Given the description of an element on the screen output the (x, y) to click on. 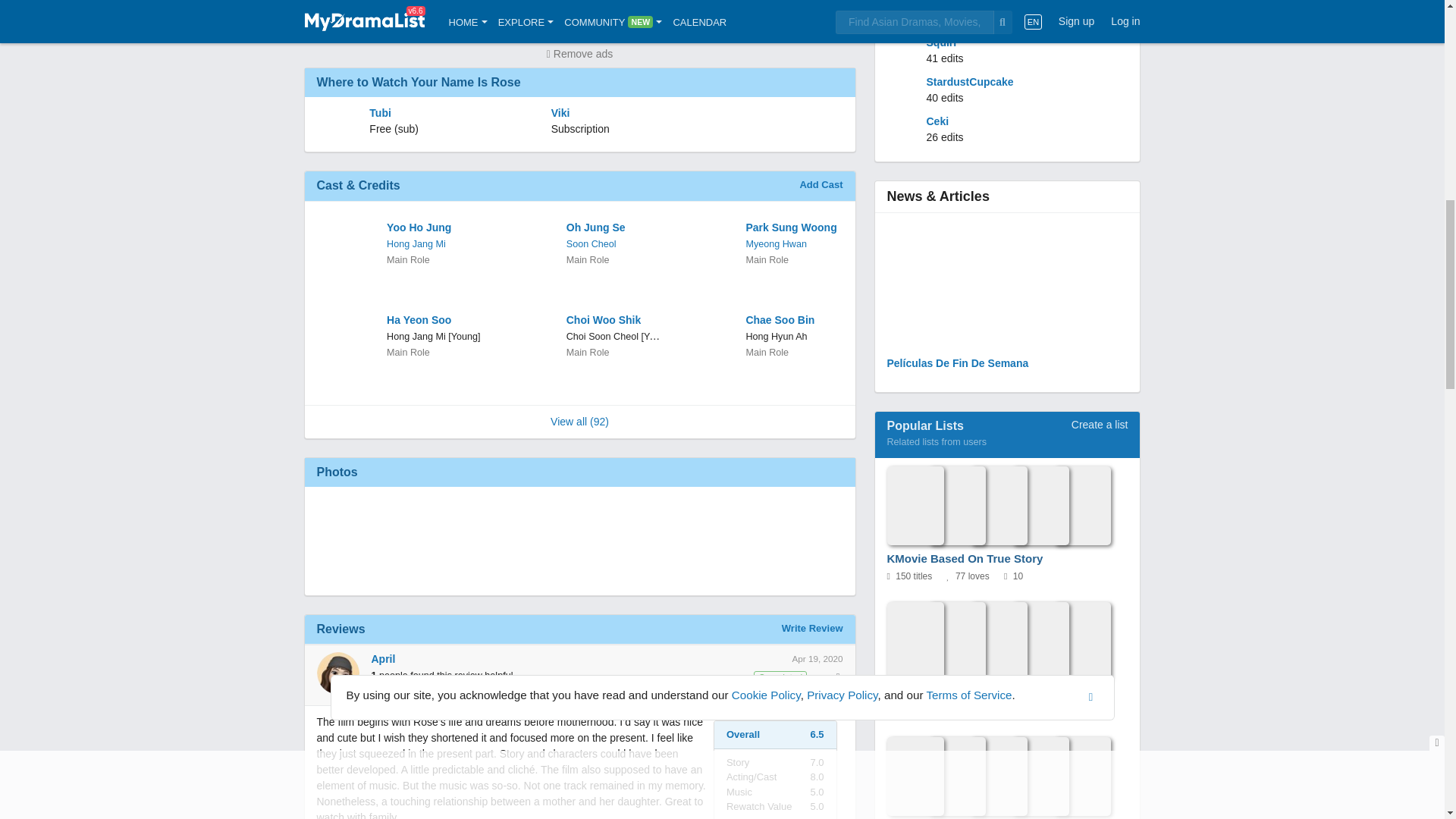
Ha Yeon Soo (433, 320)
Oh Jung Se (613, 227)
Hong Jang Mi - Your Name Is Rose (416, 244)
Myeong Hwan - Your Name Is Rose (775, 244)
Soon Cheol - Your Name Is Rose (590, 244)
Yoo Ho Jung (433, 227)
Park Sung Woong (792, 227)
